Given the description of an element on the screen output the (x, y) to click on. 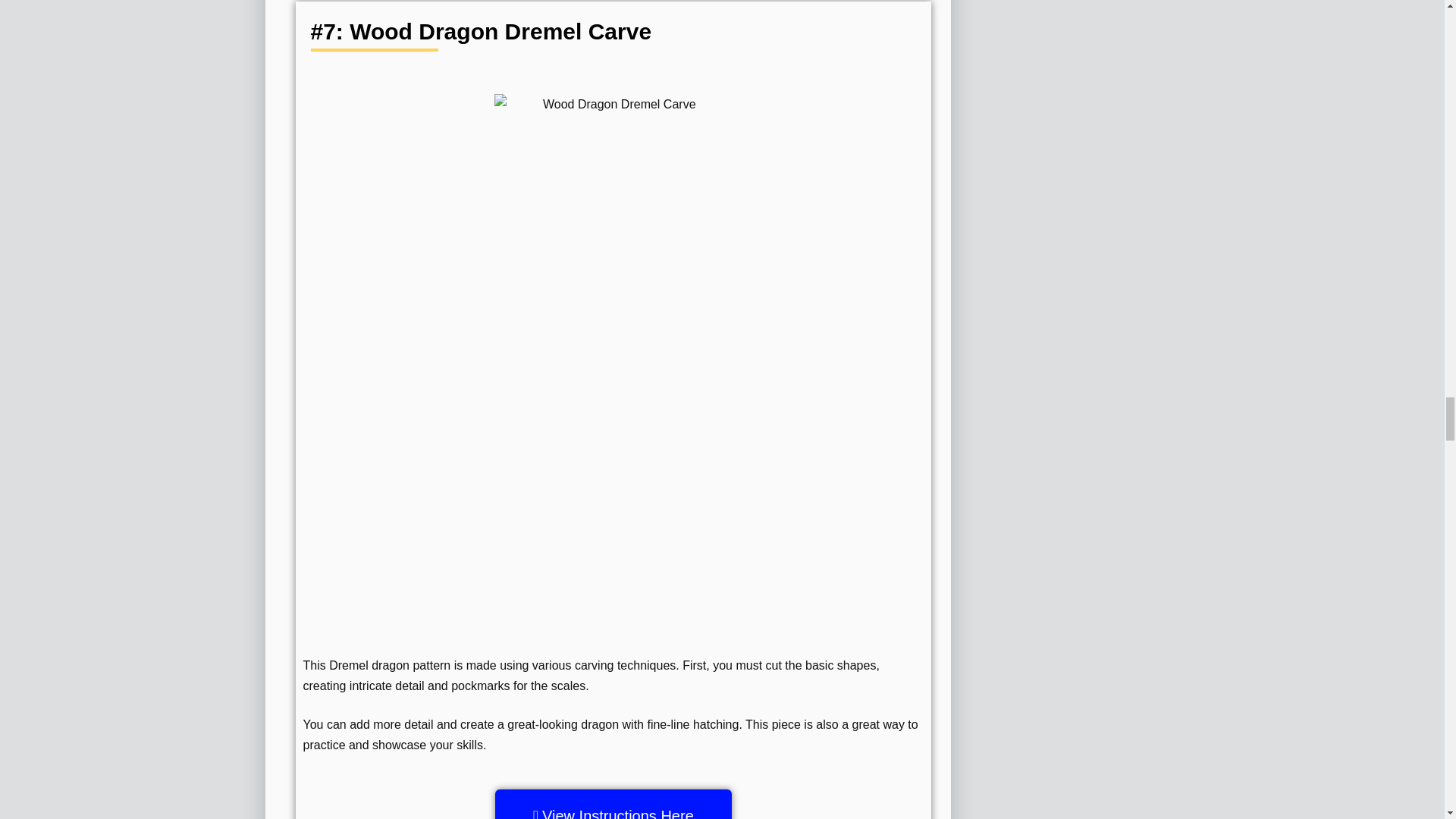
View Instructions Here (613, 804)
